Given the description of an element on the screen output the (x, y) to click on. 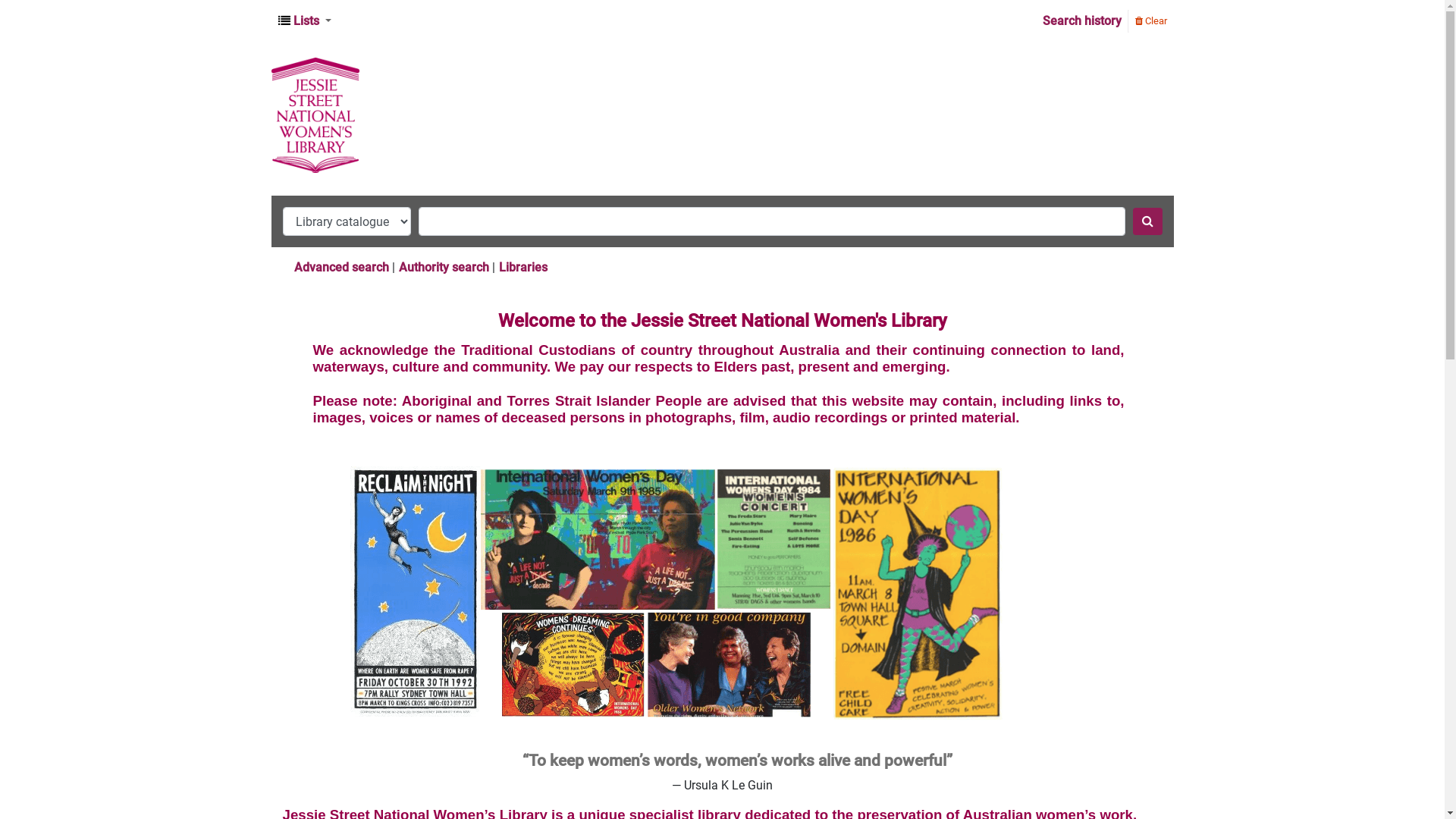
Libraries Element type: text (522, 267)
Authority search Element type: text (443, 267)
Search Element type: hover (1147, 221)
Advanced search Element type: text (341, 267)
Search history Element type: text (1080, 21)
Clear Element type: text (1150, 20)
Lists Element type: text (303, 21)
